Given the description of an element on the screen output the (x, y) to click on. 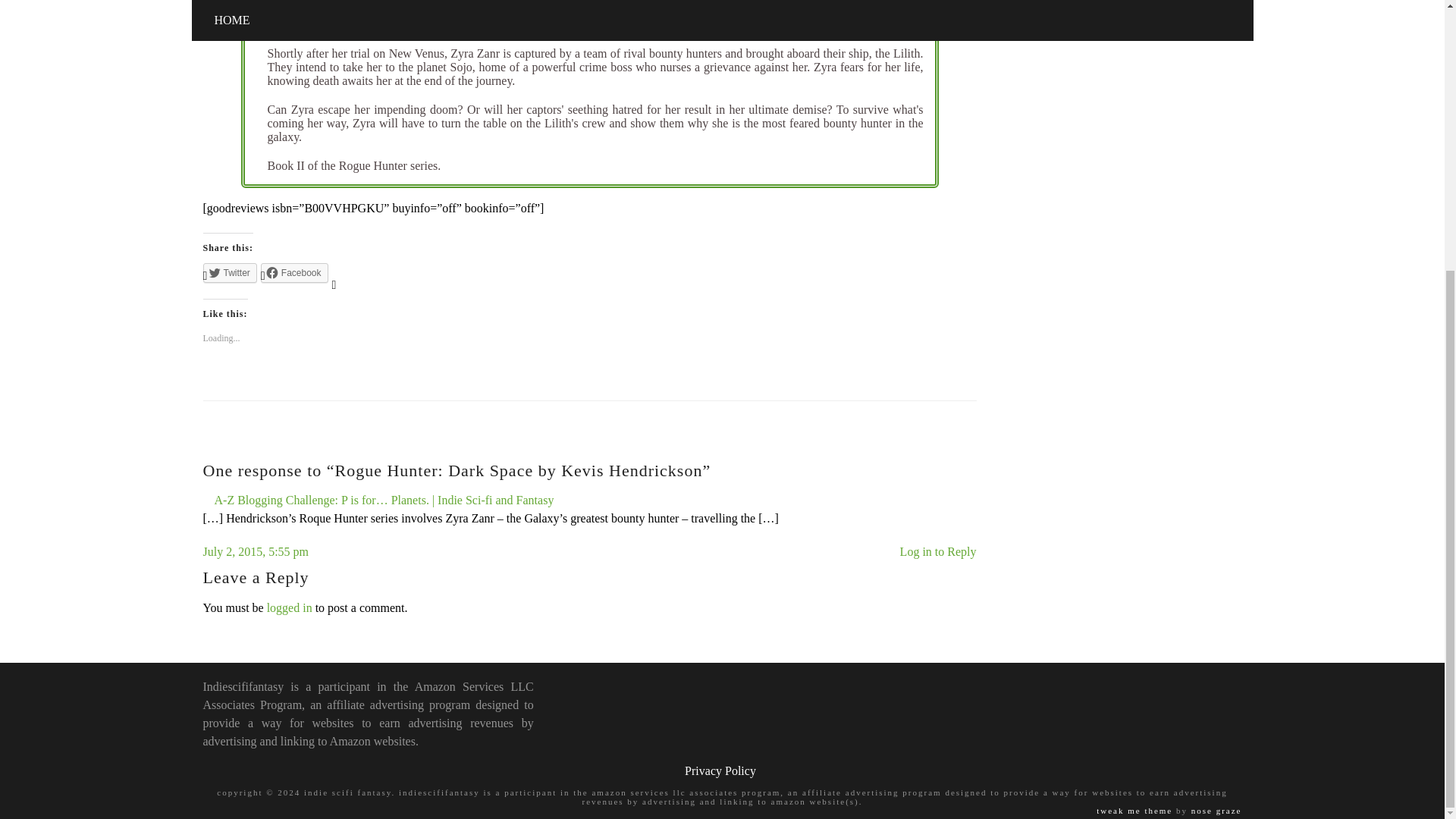
Privacy Policy (719, 770)
Facebook (294, 272)
tweak me theme (1134, 809)
Click to share on Twitter (230, 272)
Twitter (230, 272)
Log in to Reply (937, 551)
nose graze (1216, 809)
Click to share on Facebook (294, 272)
July 2, 2015, 5:55 pm (255, 551)
logged in (289, 607)
